Given the description of an element on the screen output the (x, y) to click on. 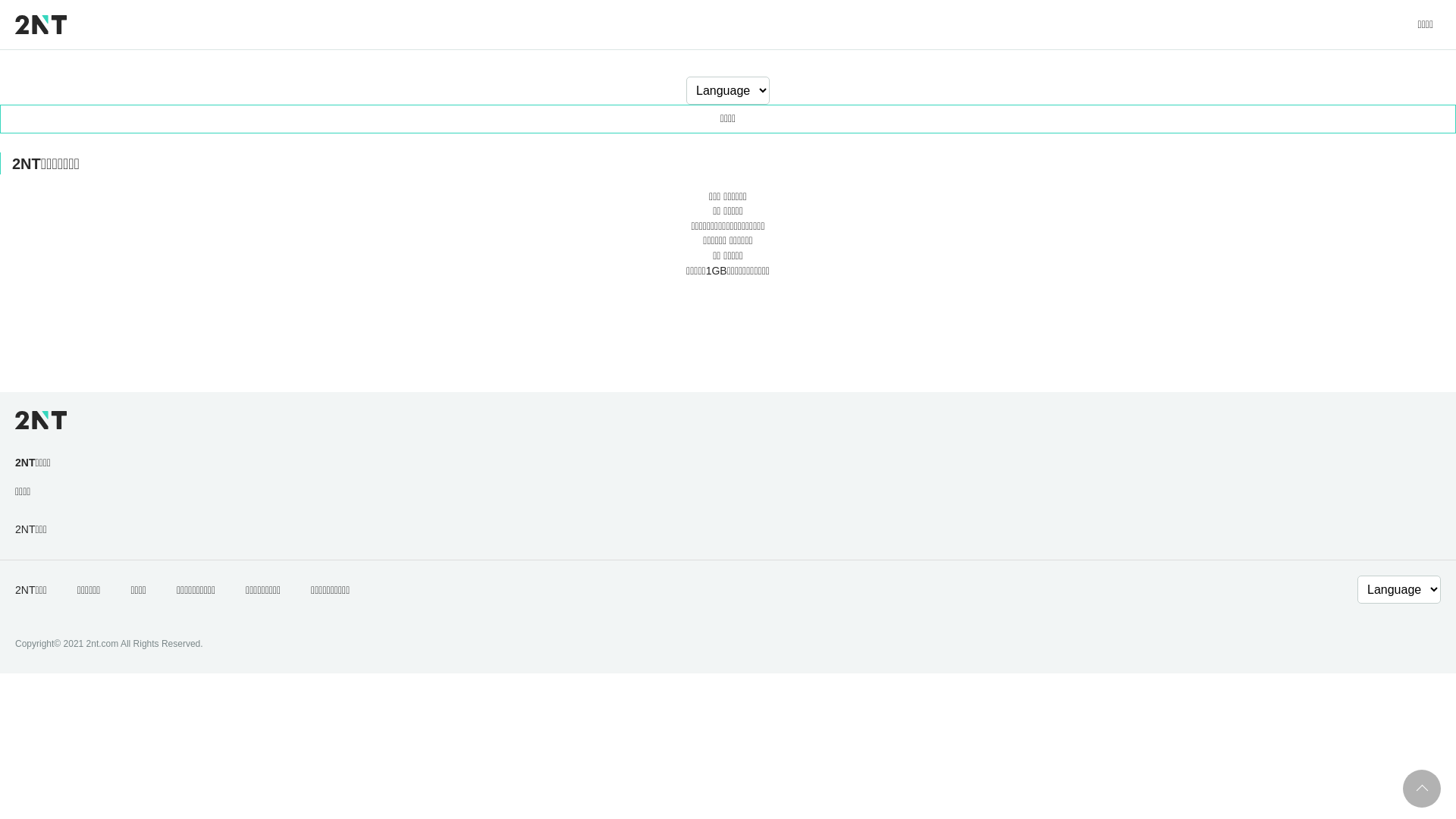
2NT Element type: hover (40, 24)
